Given the description of an element on the screen output the (x, y) to click on. 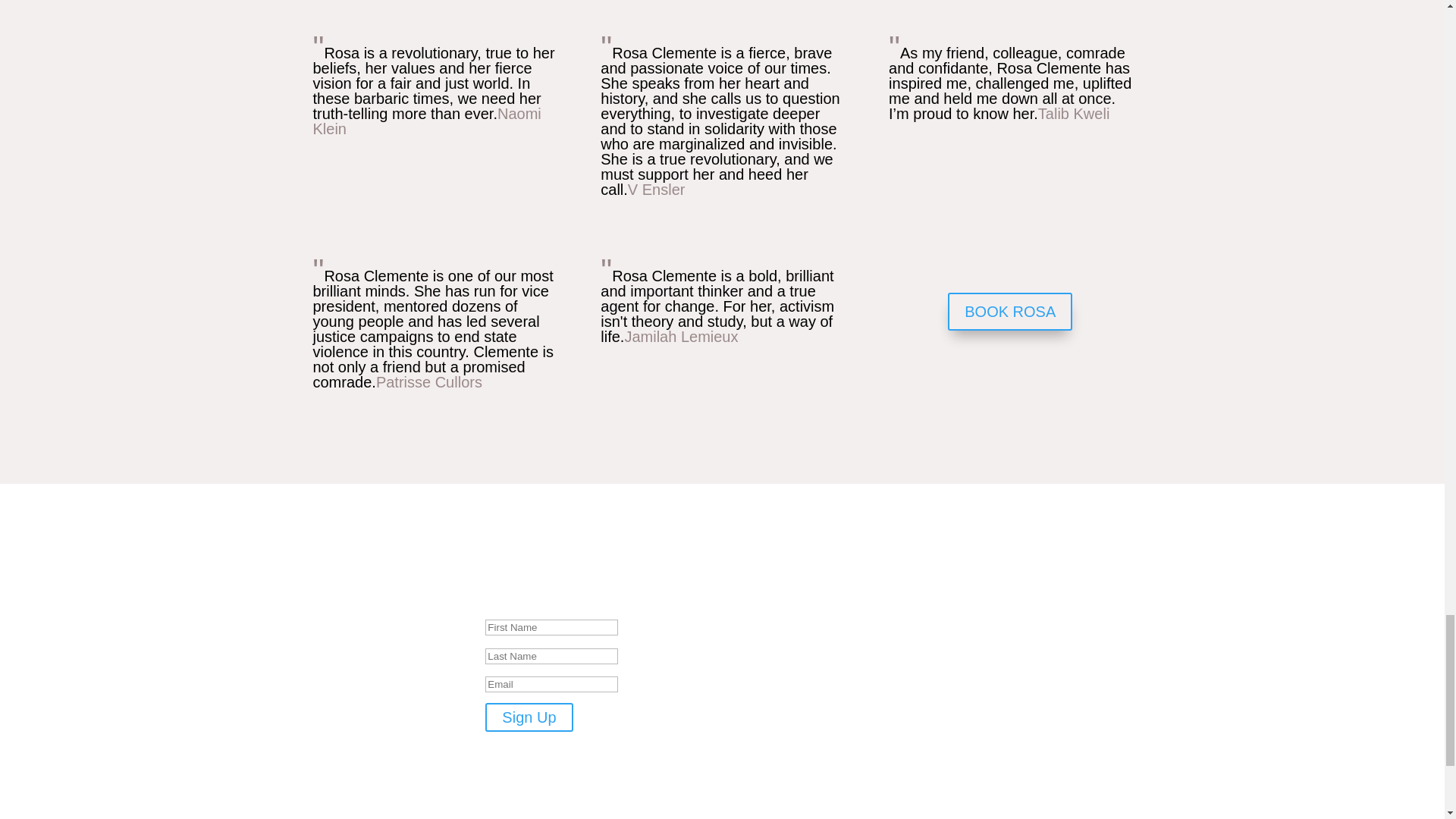
BOOK ROSA (1009, 311)
Sign Up (528, 717)
